Given the description of an element on the screen output the (x, y) to click on. 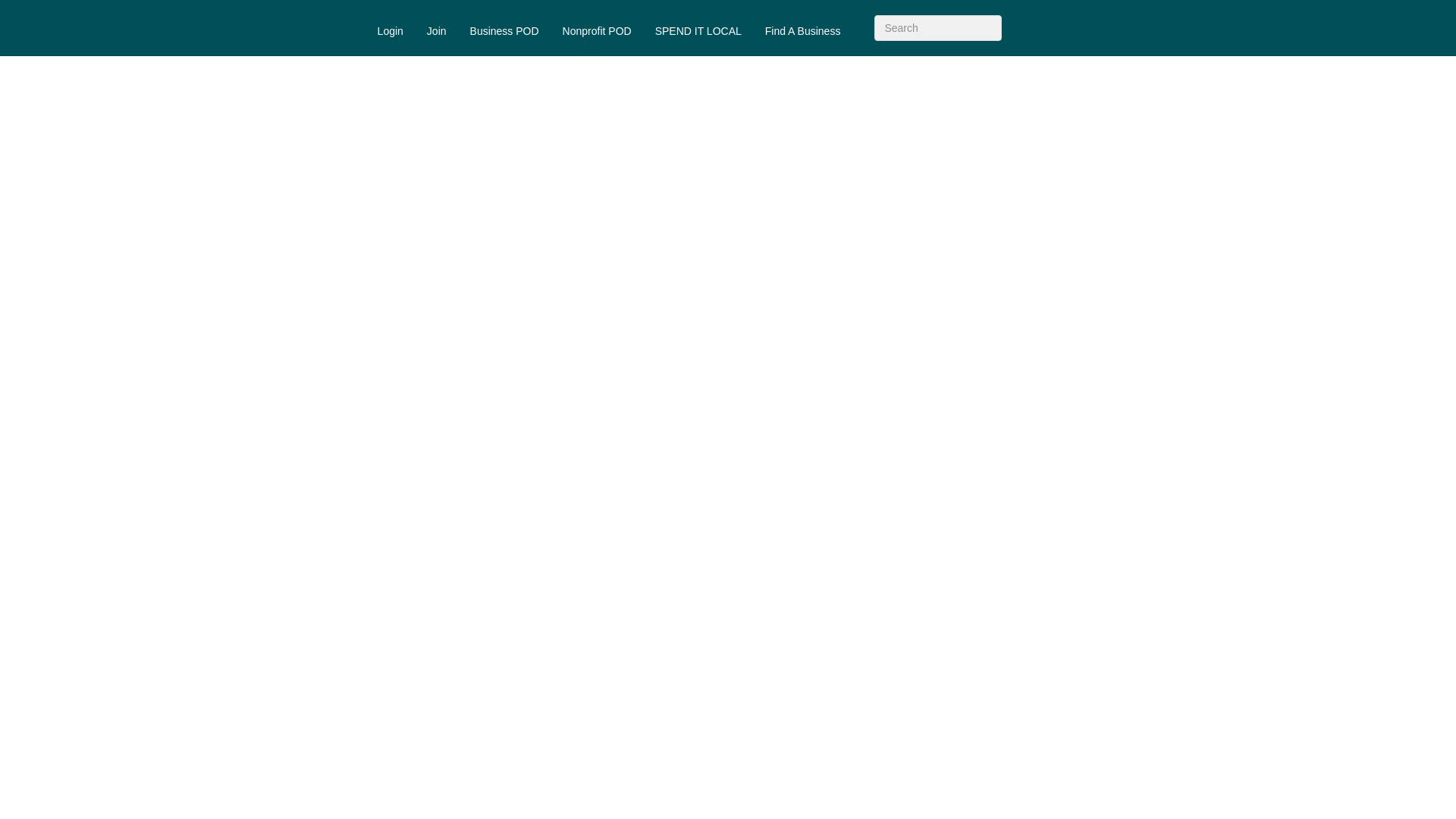
SPEND IT LOCAL (697, 31)
Join (436, 31)
Nonprofit POD (597, 31)
Business POD (504, 31)
Login (390, 31)
Type and press Enter to search. (938, 27)
Find A Business (802, 31)
